Given the description of an element on the screen output the (x, y) to click on. 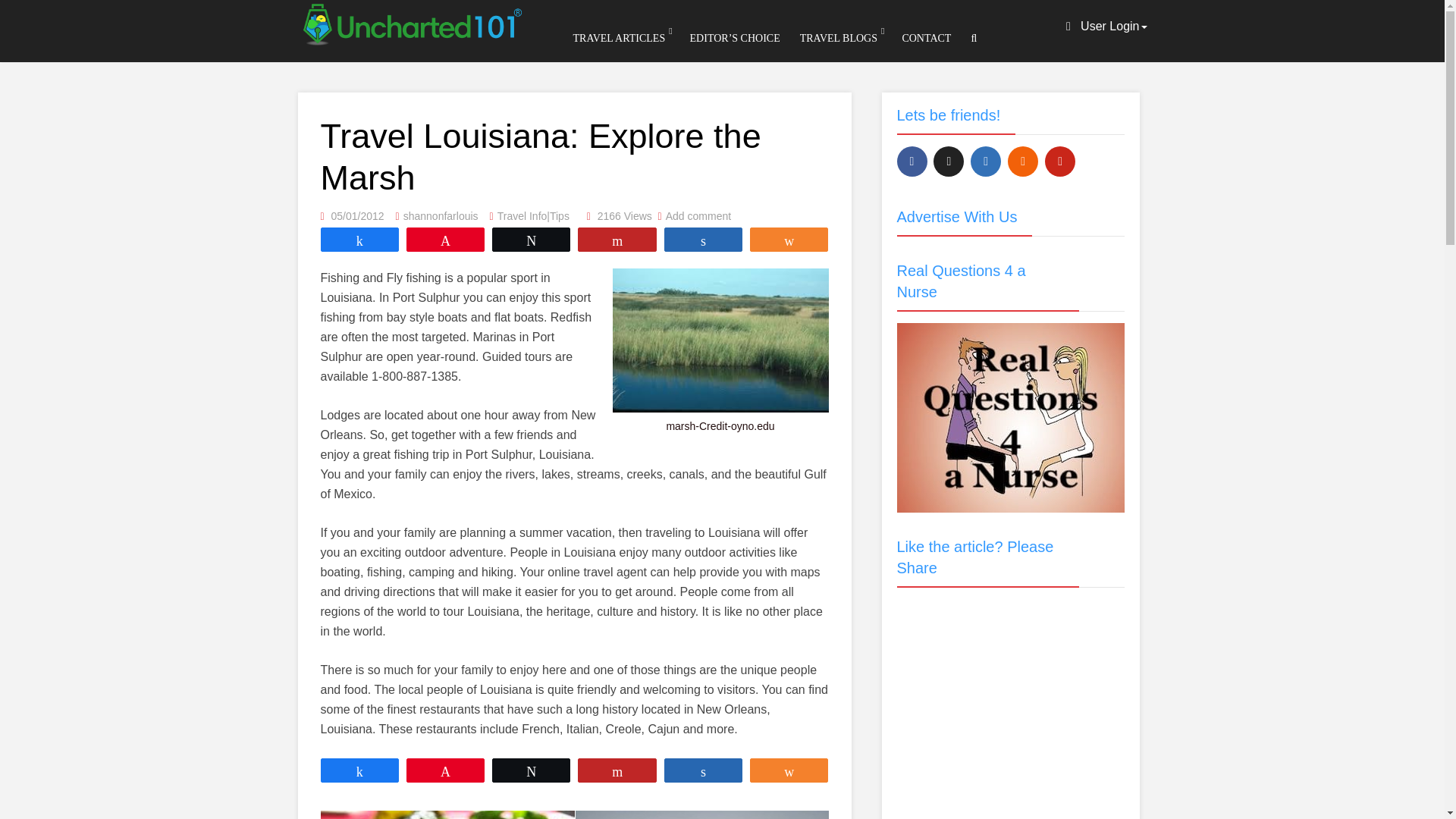
Linkedin (986, 161)
shannonfarlouis (441, 215)
TRAVEL ARTICLES (618, 38)
RSS (1022, 161)
  User Login (1106, 26)
TRAVEL BLOGS (838, 38)
Facebook (911, 161)
Pinterest (1060, 161)
Advertisement (1010, 693)
Uncharted101.com (410, 21)
Add comment (697, 215)
CONTACT (926, 38)
